Given the description of an element on the screen output the (x, y) to click on. 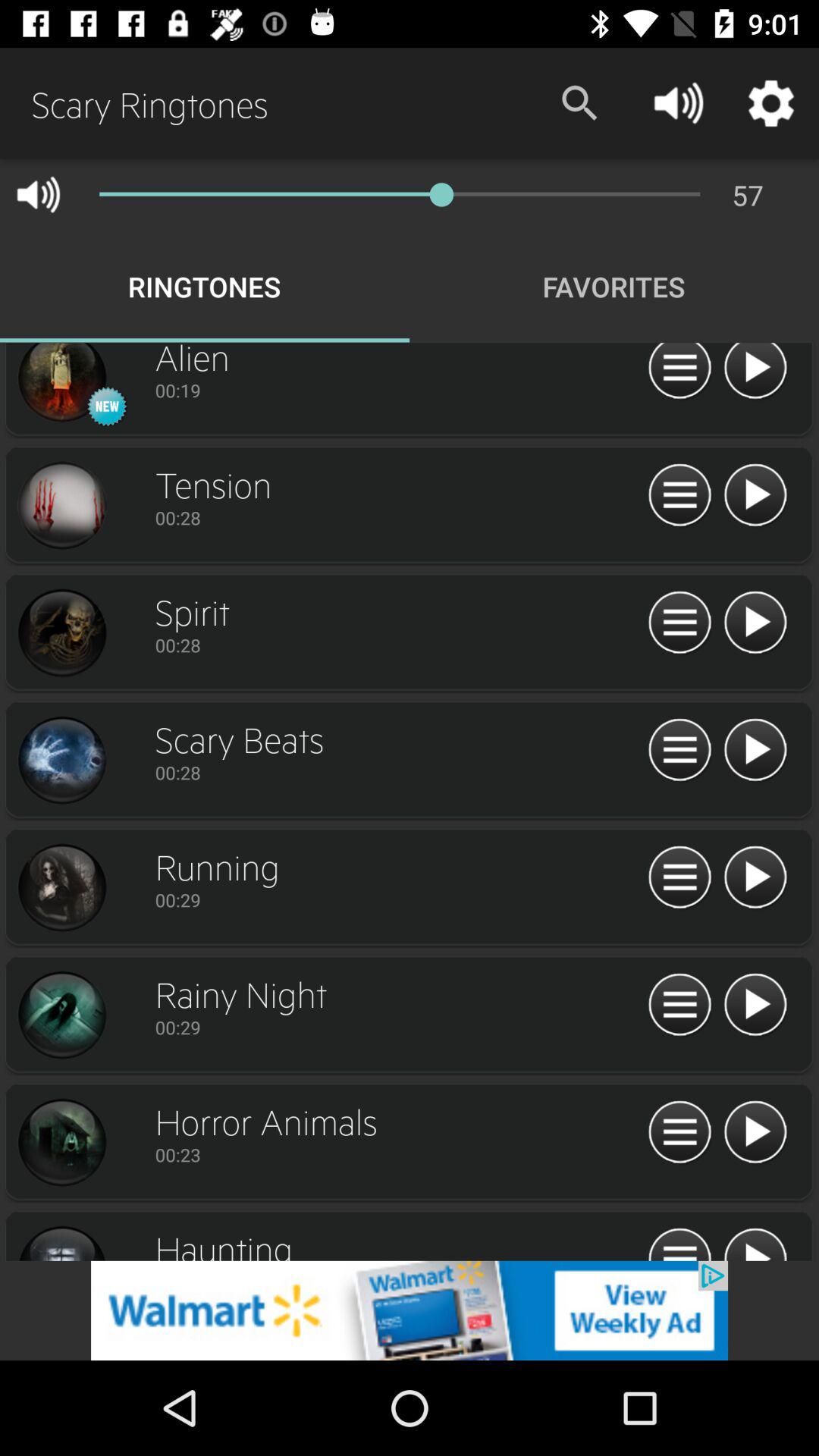
screenshot icon for ringtone (61, 384)
